Given the description of an element on the screen output the (x, y) to click on. 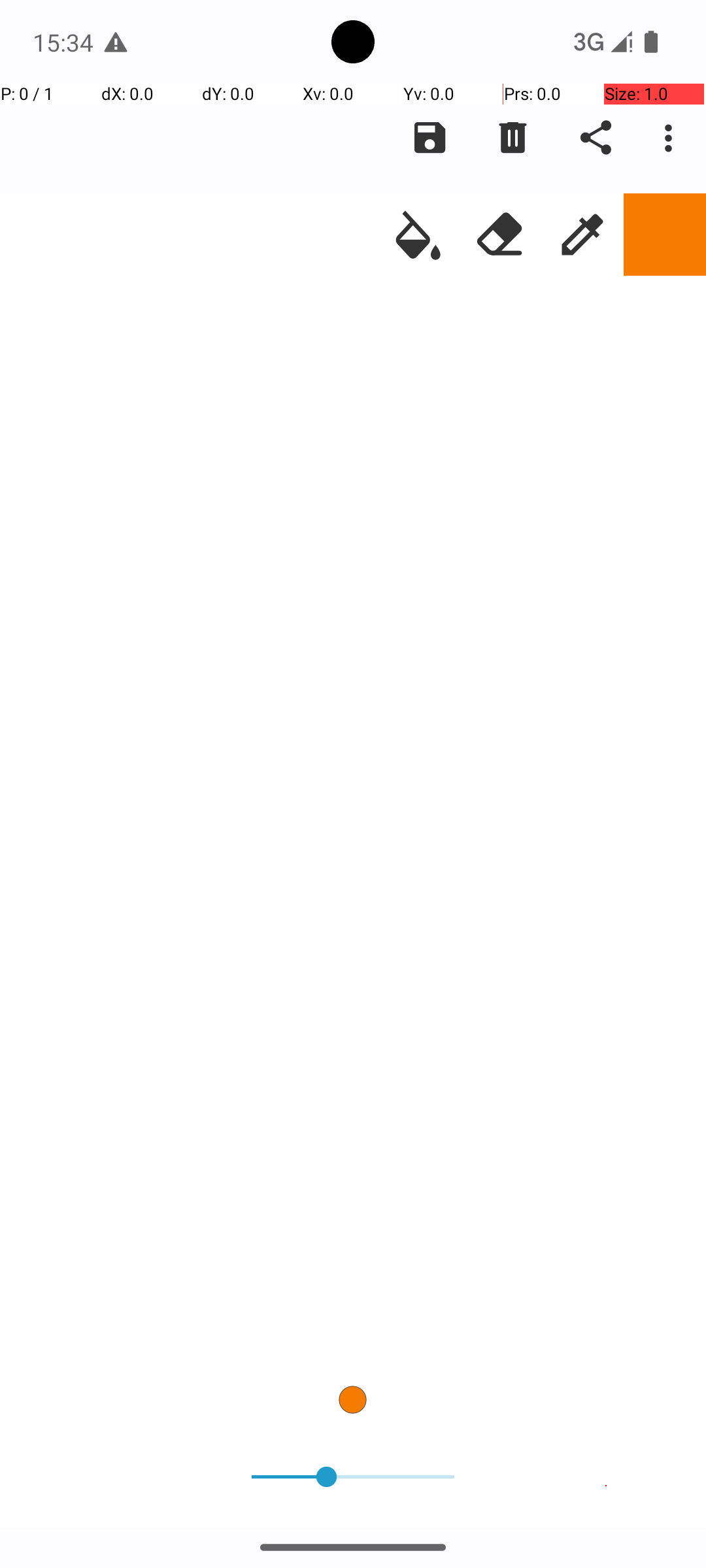
Clear Element type: android.widget.Button (512, 137)
Bucket fill Element type: android.widget.ImageView (417, 234)
Eraser Element type: android.widget.ImageView (499, 234)
Eyedropper Element type: android.widget.ImageView (582, 234)
Change color Element type: android.widget.ImageView (664, 234)
